Given the description of an element on the screen output the (x, y) to click on. 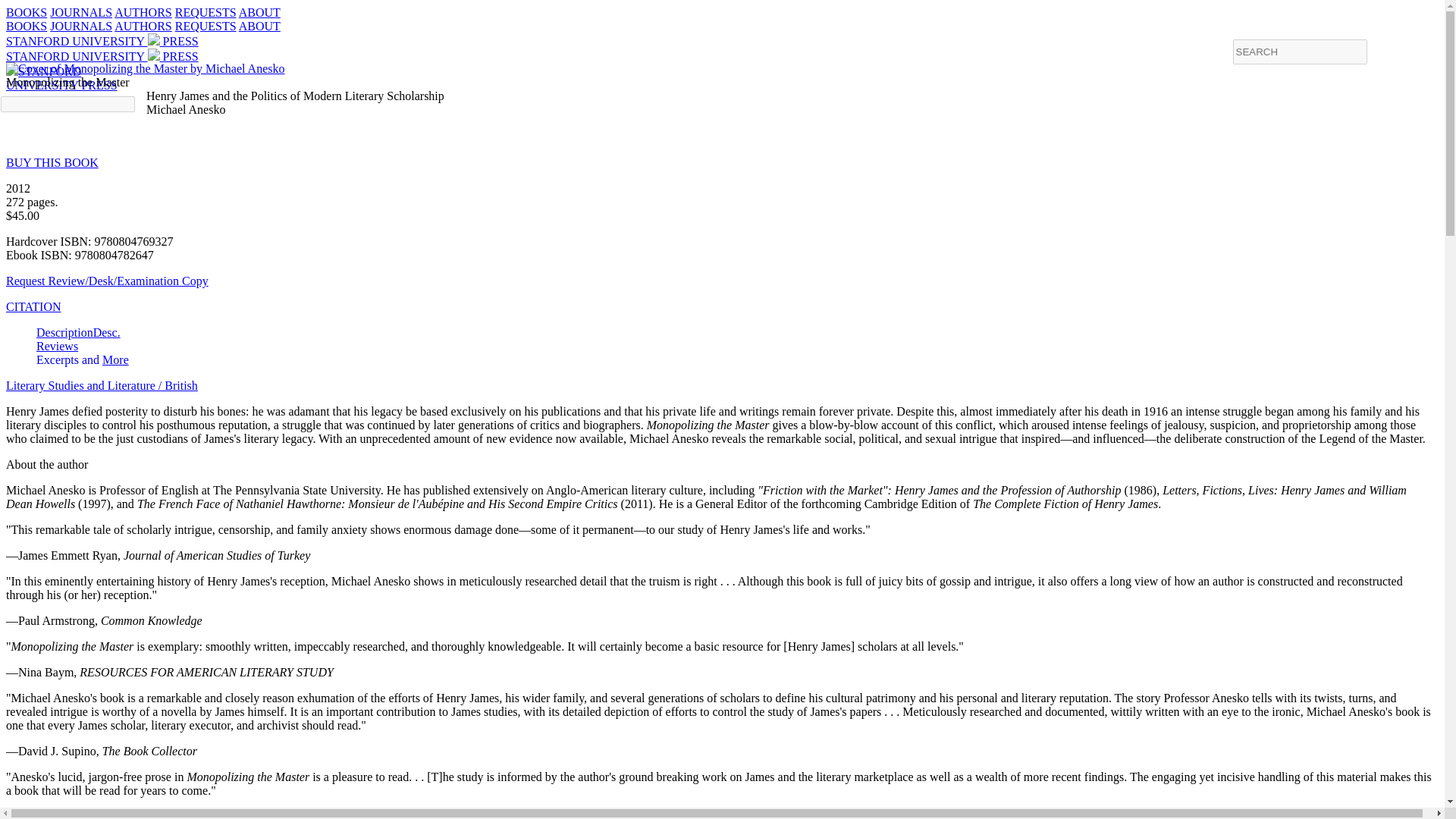
STANFORD UNIVERSITY PRESS (115, 359)
AUTHORS (101, 41)
Reviews (143, 11)
CITATION (57, 345)
BOOKS (33, 306)
STANFORD UNIVERSITY PRESS (25, 11)
JOURNALS (101, 56)
REQUESTS (80, 25)
DescriptionDesc. (204, 11)
